Given the description of an element on the screen output the (x, y) to click on. 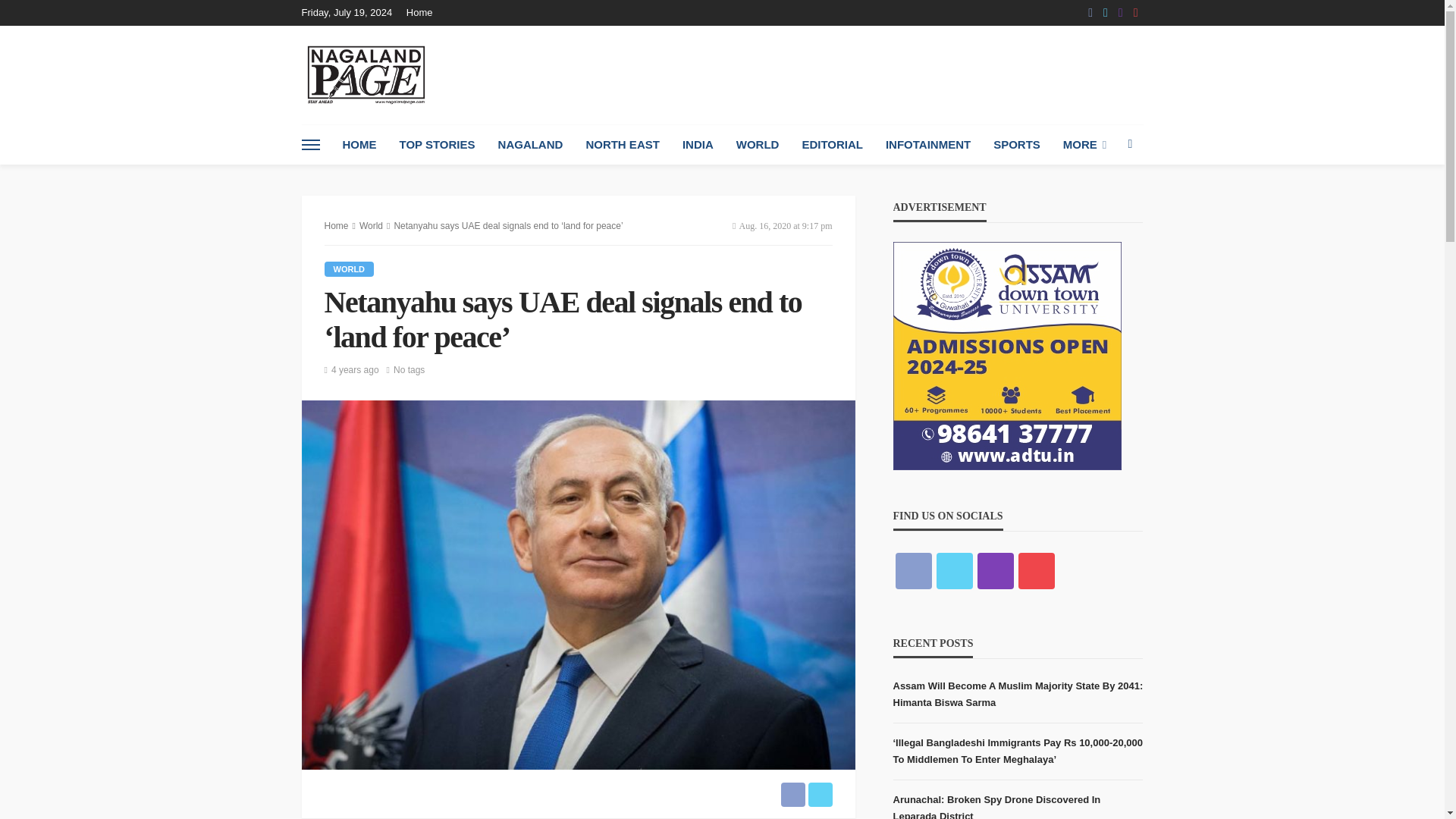
nagaland-page-logo (365, 74)
NAGALAND (530, 144)
Home (423, 12)
TOP STORIES (437, 144)
EDITORIAL (832, 144)
HOME (358, 144)
MORE (1084, 144)
INDIA (698, 144)
SPORTS (1016, 144)
World (349, 268)
Advertisement (866, 74)
INFOTAINMENT (928, 144)
WORLD (757, 144)
NORTH EAST (622, 144)
